Given the description of an element on the screen output the (x, y) to click on. 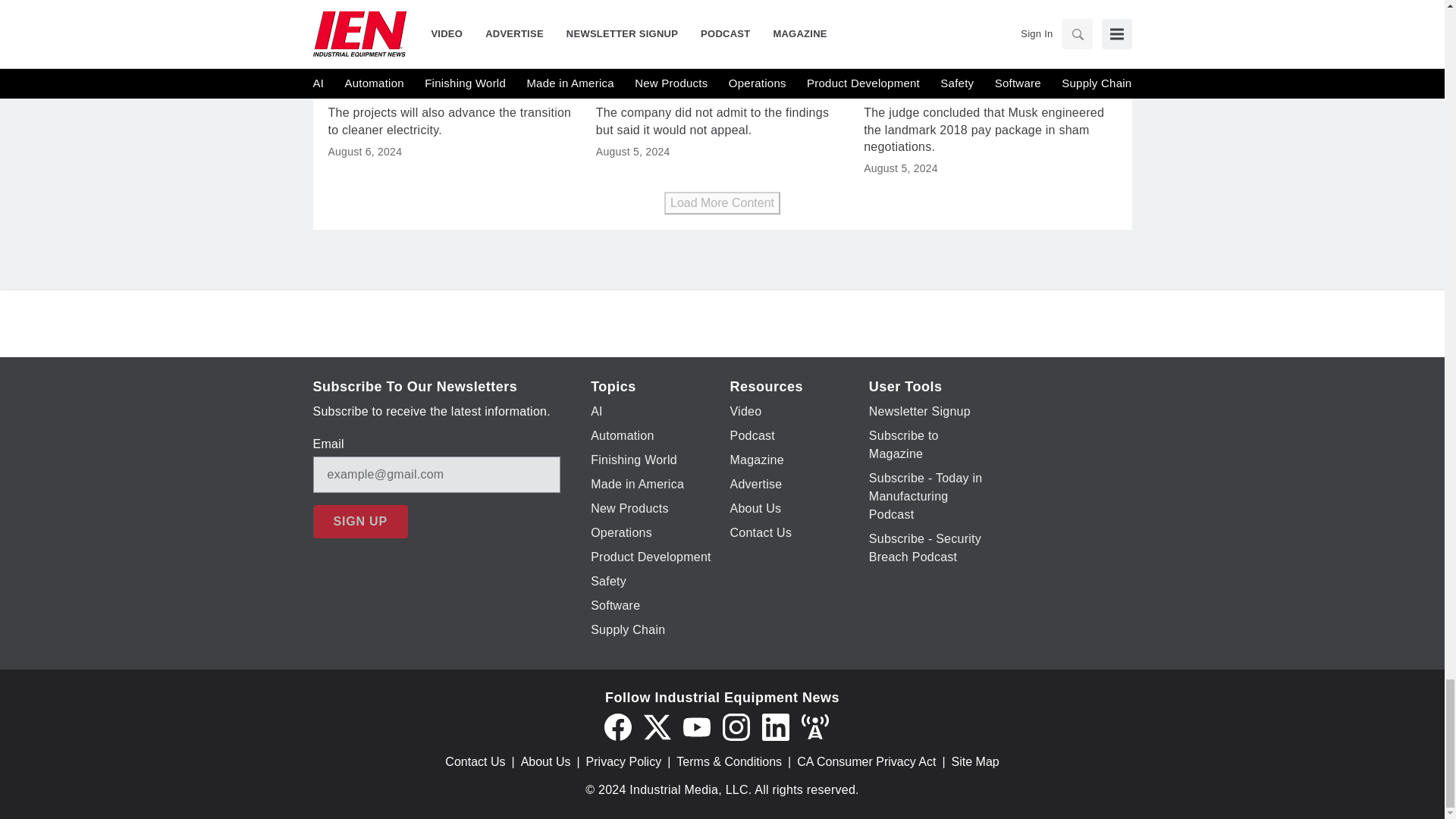
Facebook icon (617, 727)
LinkedIn icon (775, 727)
YouTube icon (696, 727)
Instagram icon (735, 727)
Twitter X icon (656, 727)
